Given the description of an element on the screen output the (x, y) to click on. 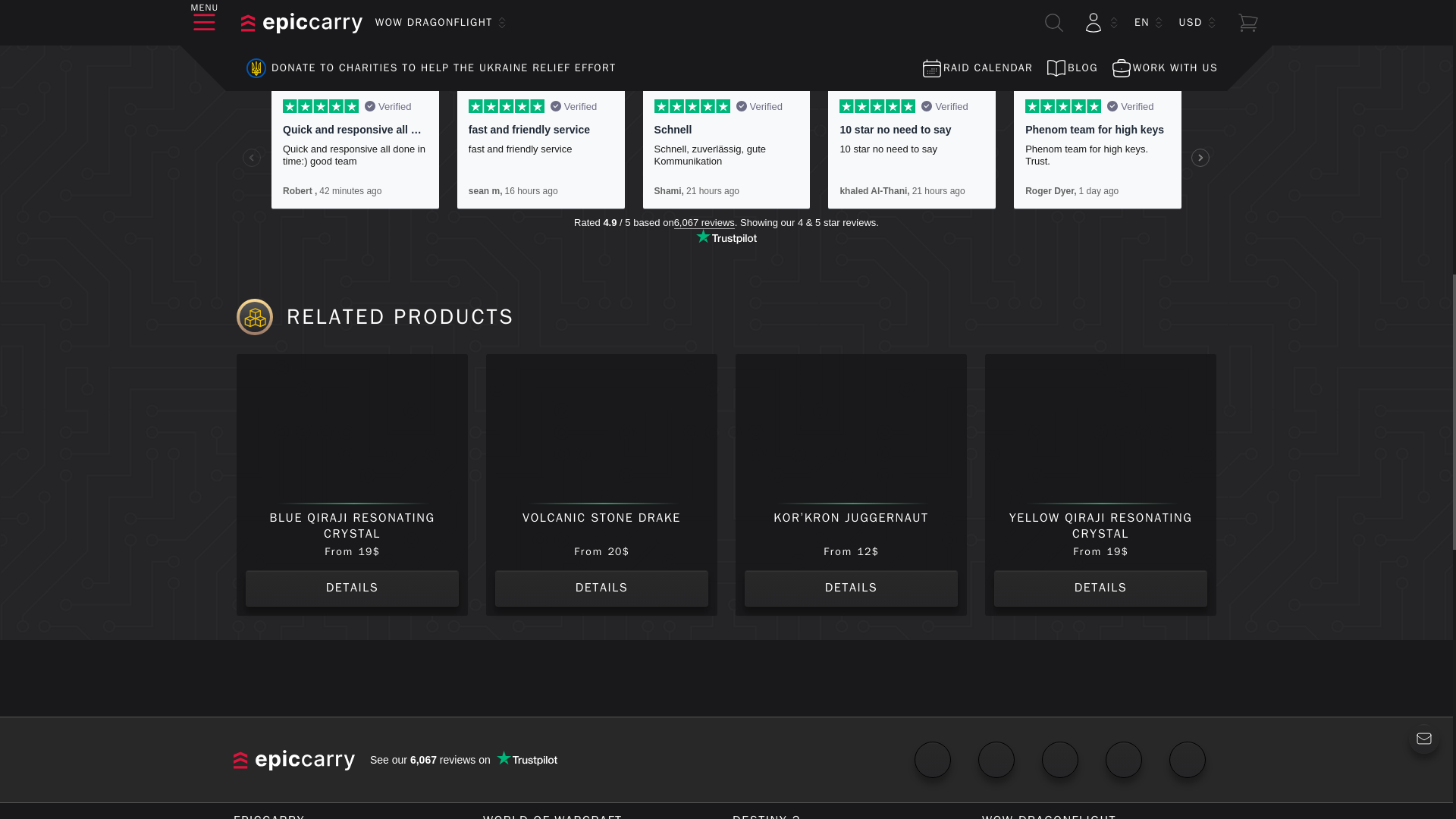
BLUE QIRAJI RESONATING CRYSTAL (351, 431)
YELLOW QIRAJI RESONATING CRYSTAL (1100, 431)
Volcanic Stone Drake (601, 431)
